Given the description of an element on the screen output the (x, y) to click on. 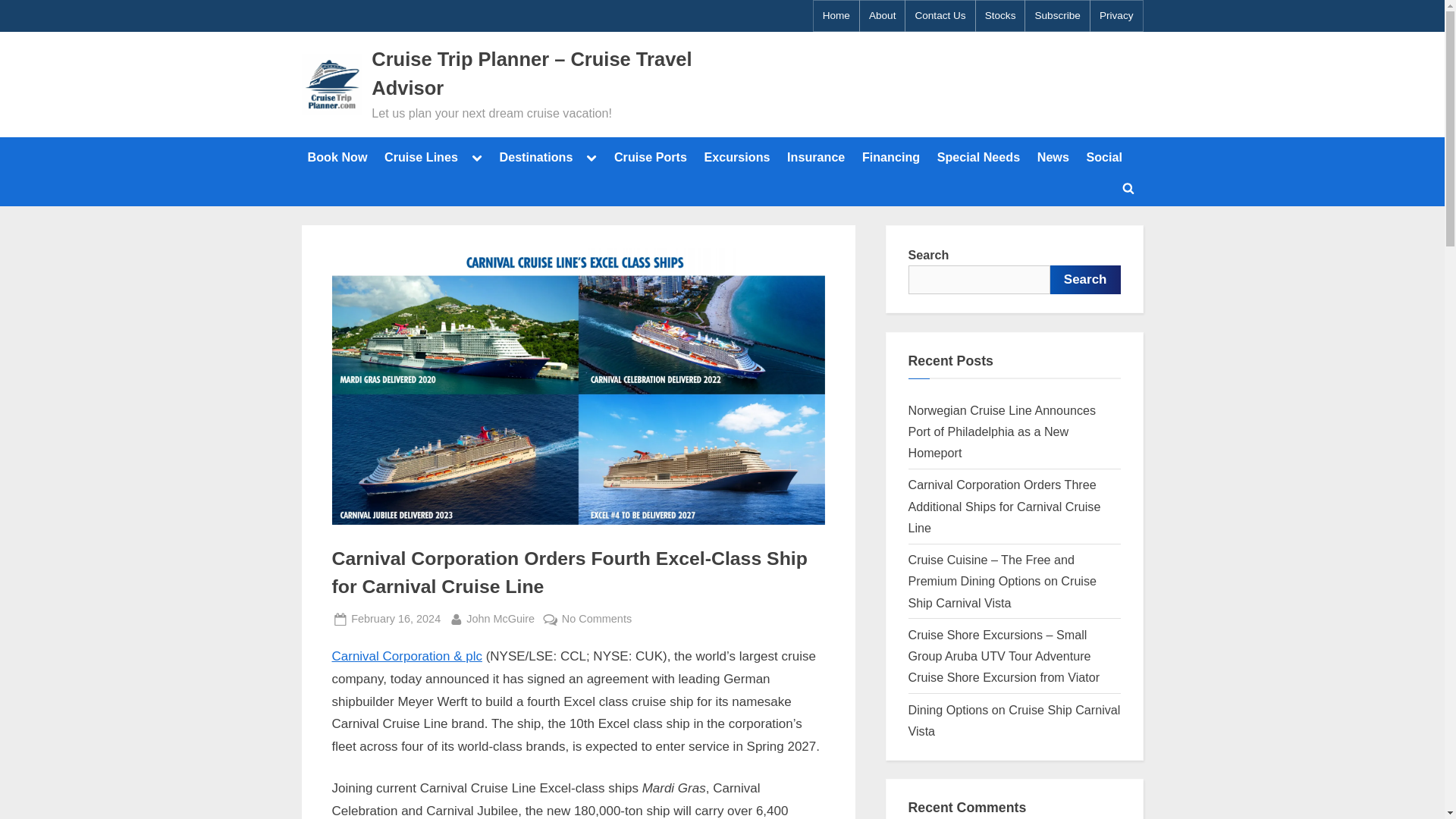
Cruise Lines (421, 156)
Book Now (337, 156)
About (882, 15)
Destinations (535, 156)
Toggle sub-menu (590, 156)
Toggle sub-menu (476, 156)
Subscribe (1056, 15)
Home (836, 15)
Privacy (1116, 15)
Stocks (1000, 15)
Contact Us (939, 15)
